Given the description of an element on the screen output the (x, y) to click on. 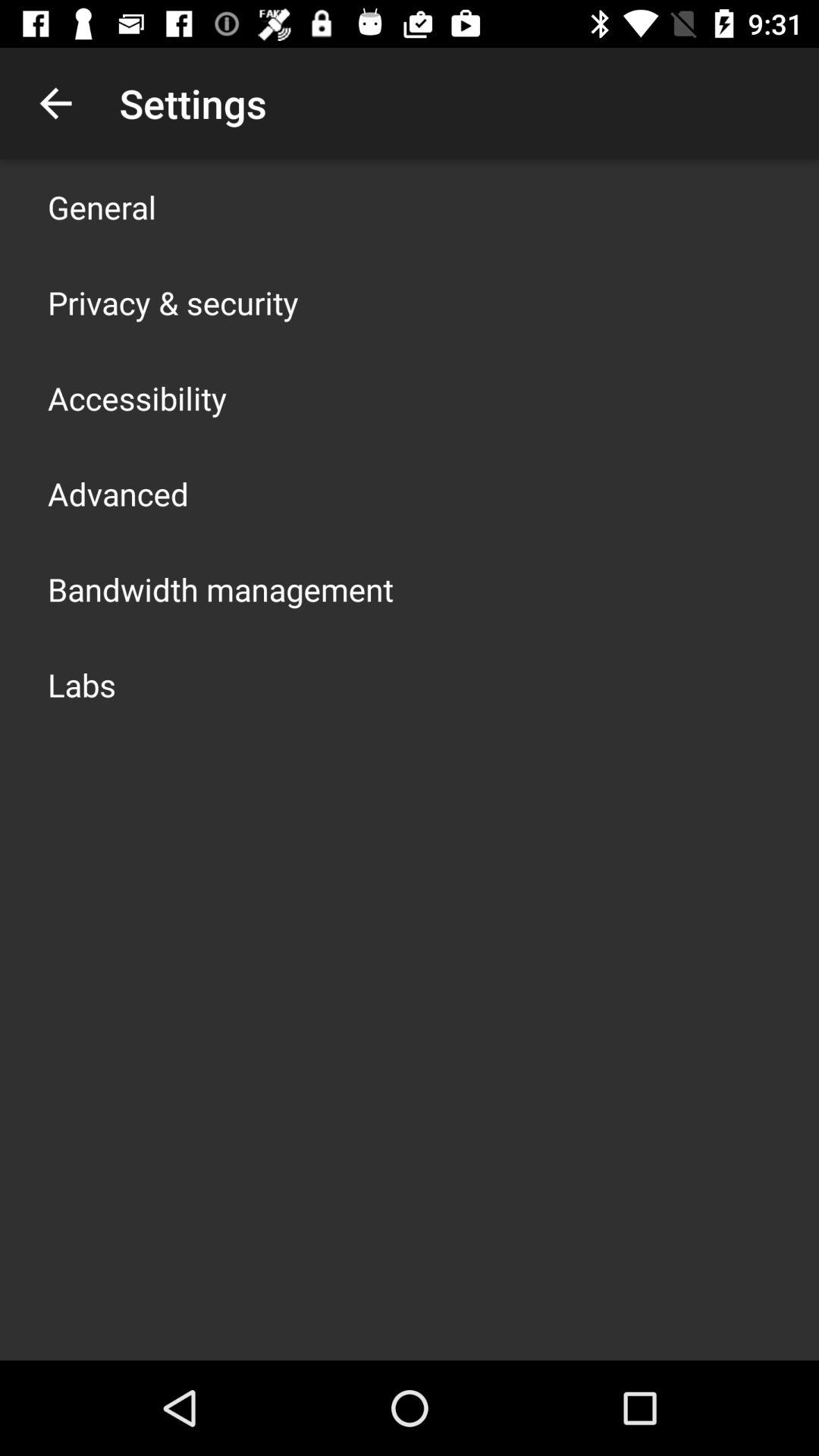
jump to labs (81, 684)
